Given the description of an element on the screen output the (x, y) to click on. 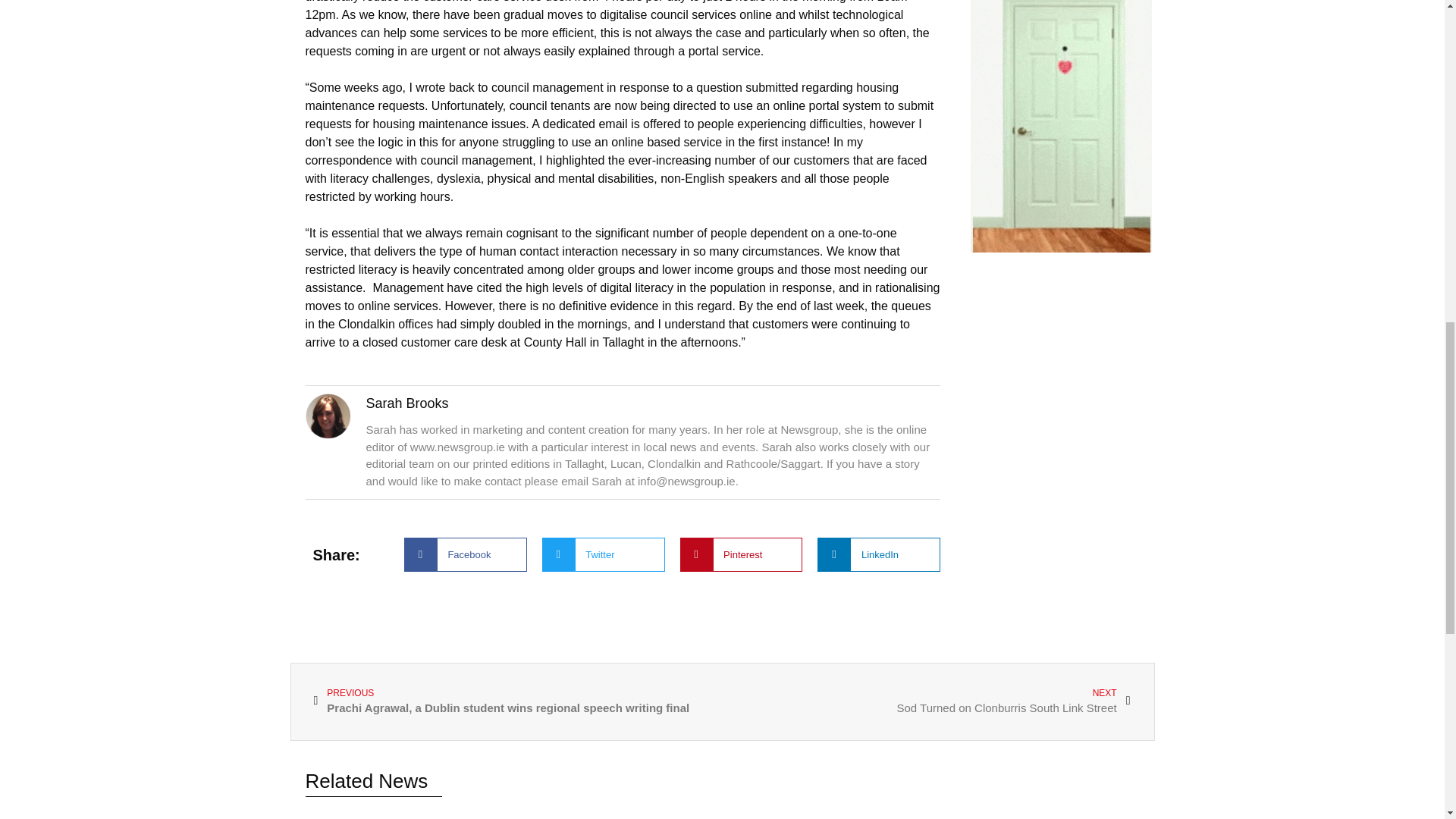
Scroll back to top (926, 701)
